Given the description of an element on the screen output the (x, y) to click on. 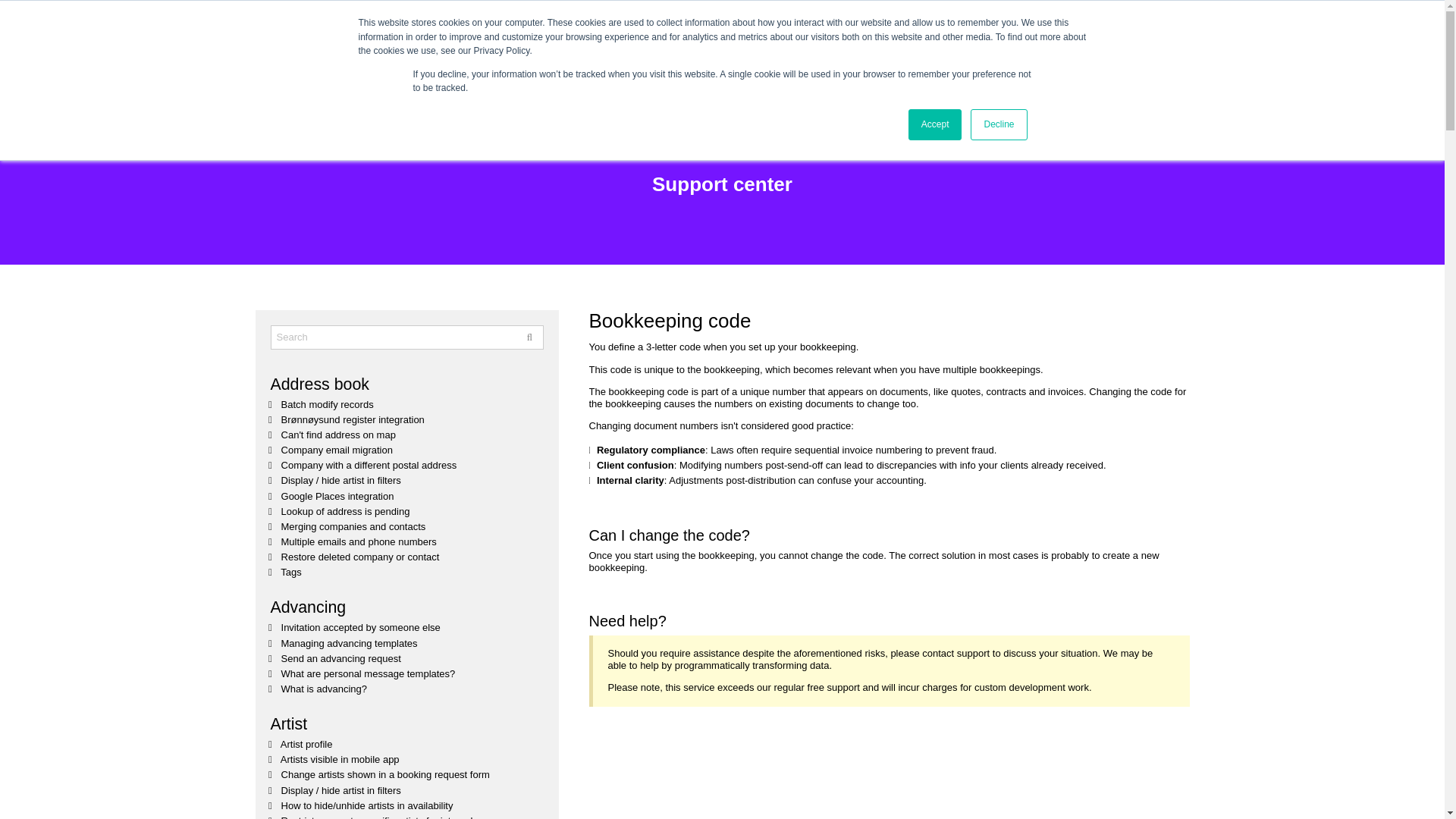
Changelog (1242, 67)
Multiple emails and phone numbers (358, 541)
Features (1115, 67)
Decline (998, 124)
Company with a different postal address (369, 464)
Merging companies and contacts (353, 526)
Request trial (1381, 68)
Google Places integration (337, 496)
Lookup of address is pending (345, 511)
Company email migration (337, 449)
Blog (1197, 67)
Address book (318, 384)
Support (1317, 15)
Accept (935, 124)
Login (1278, 15)
